Given the description of an element on the screen output the (x, y) to click on. 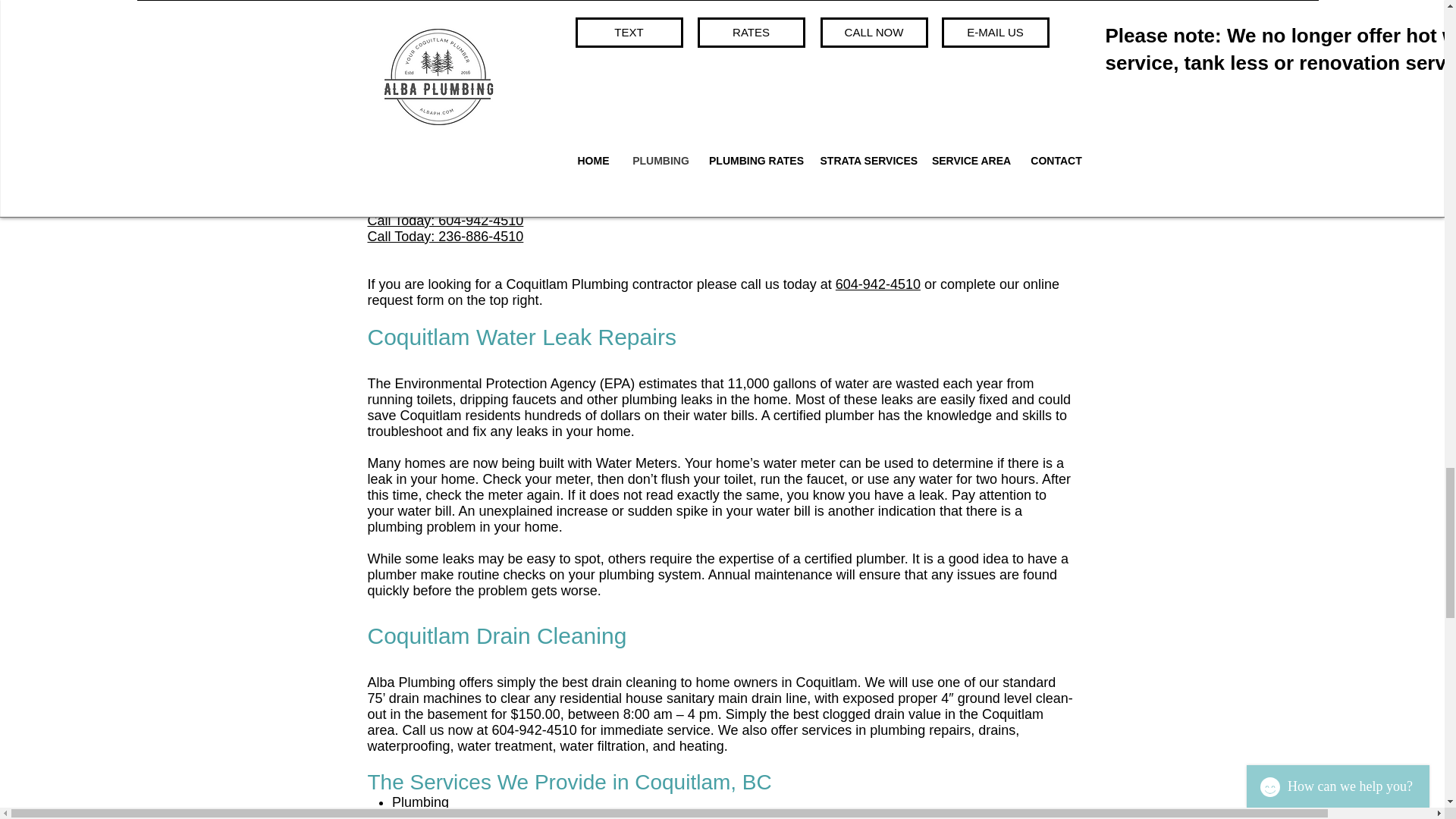
Drain Cleaning (436, 814)
Call Today: 604-942-4510 (444, 220)
Plumbing (419, 801)
Call Today: 236-886-4510 (444, 236)
604-942-4510 (877, 283)
